Given the description of an element on the screen output the (x, y) to click on. 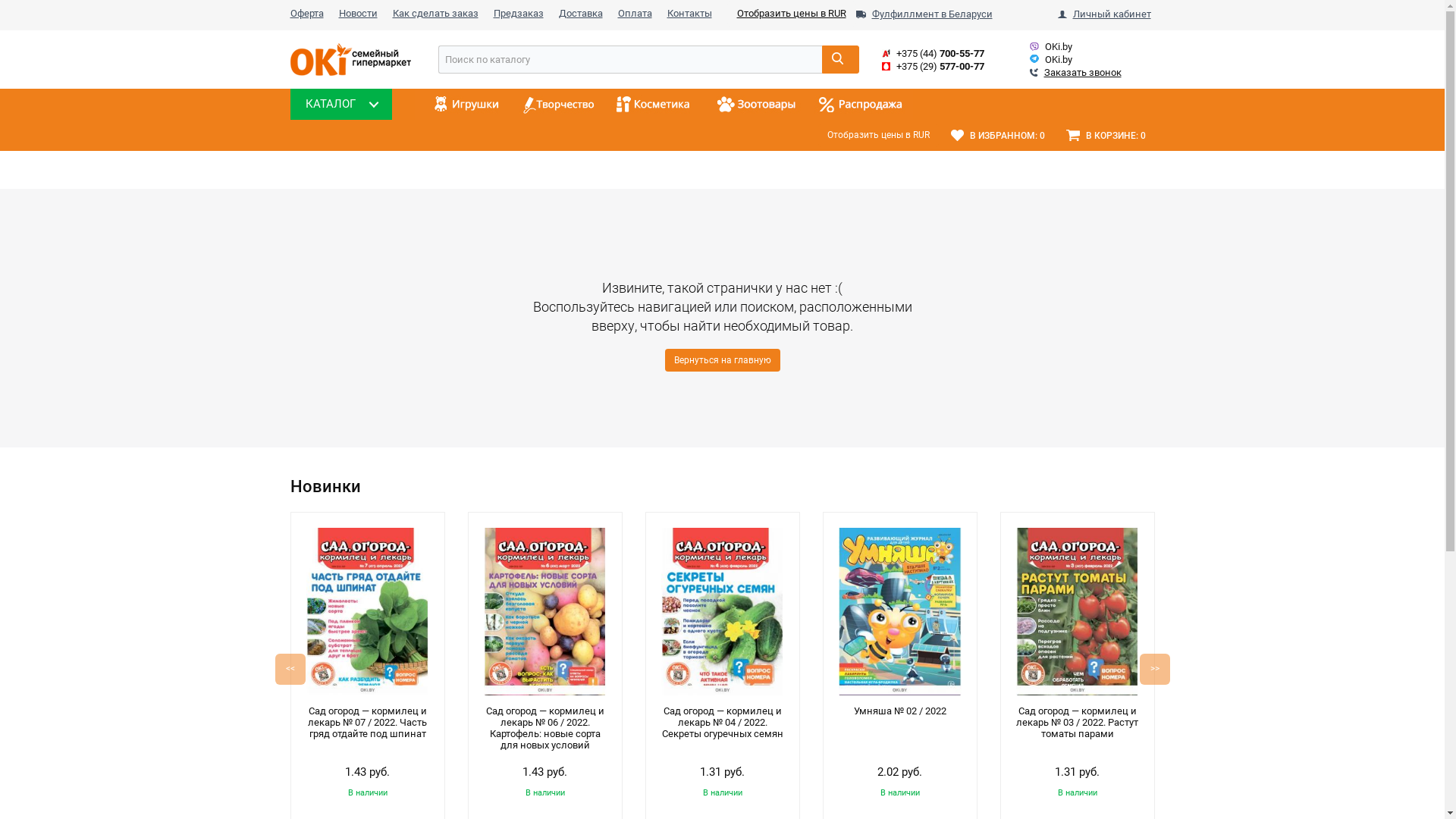
+375 (44) 700-55-77 Element type: text (940, 52)
OKi.by Element type: text (1050, 65)
+375 (29) 577-00-77 Element type: text (940, 66)
OKi.by Element type: hover (349, 59)
OKi.by Element type: text (1058, 46)
